Given the description of an element on the screen output the (x, y) to click on. 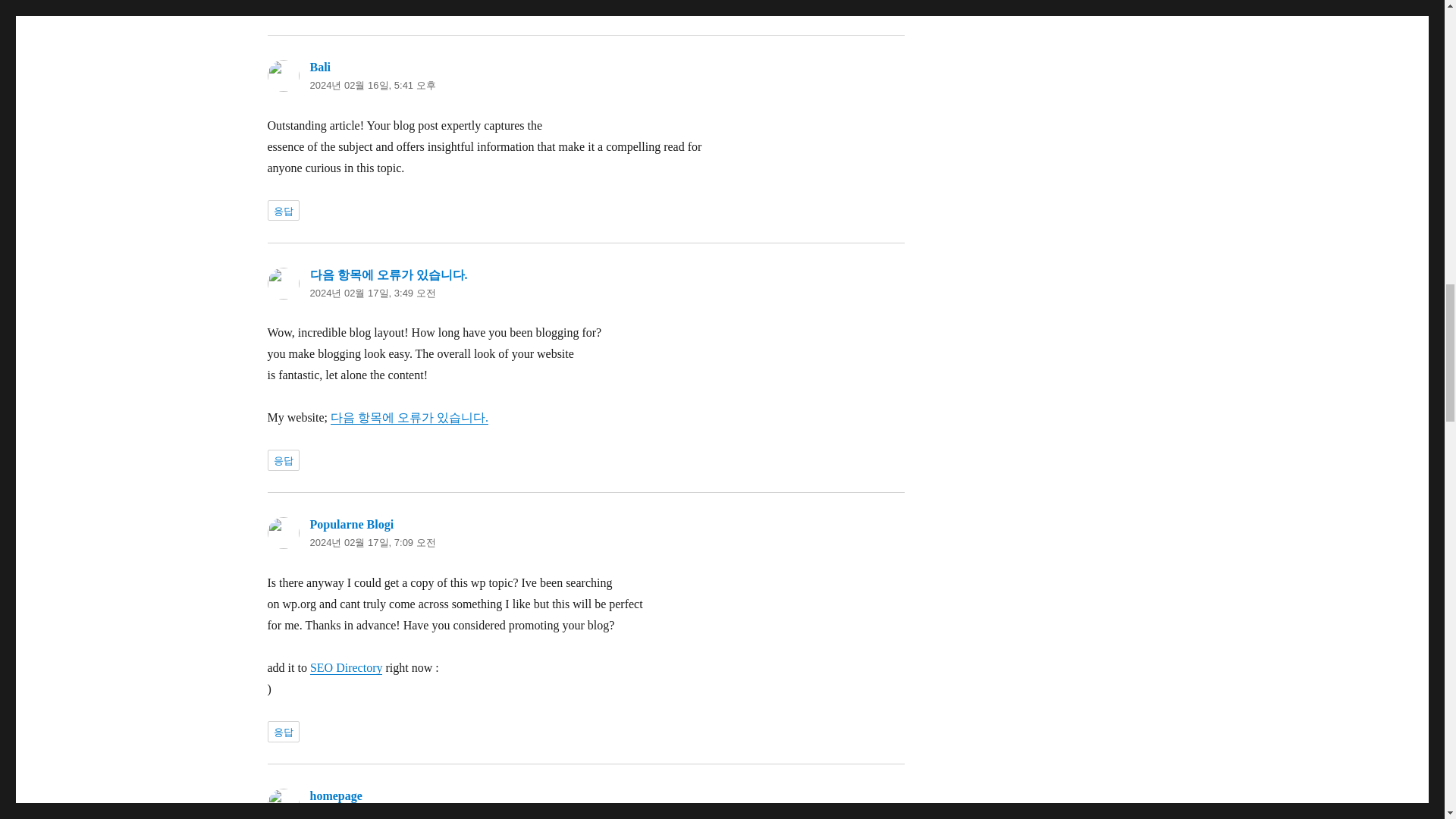
Popularne Blogi (350, 523)
SEO Directory (346, 667)
homepage (334, 795)
Bali (319, 66)
